Given the description of an element on the screen output the (x, y) to click on. 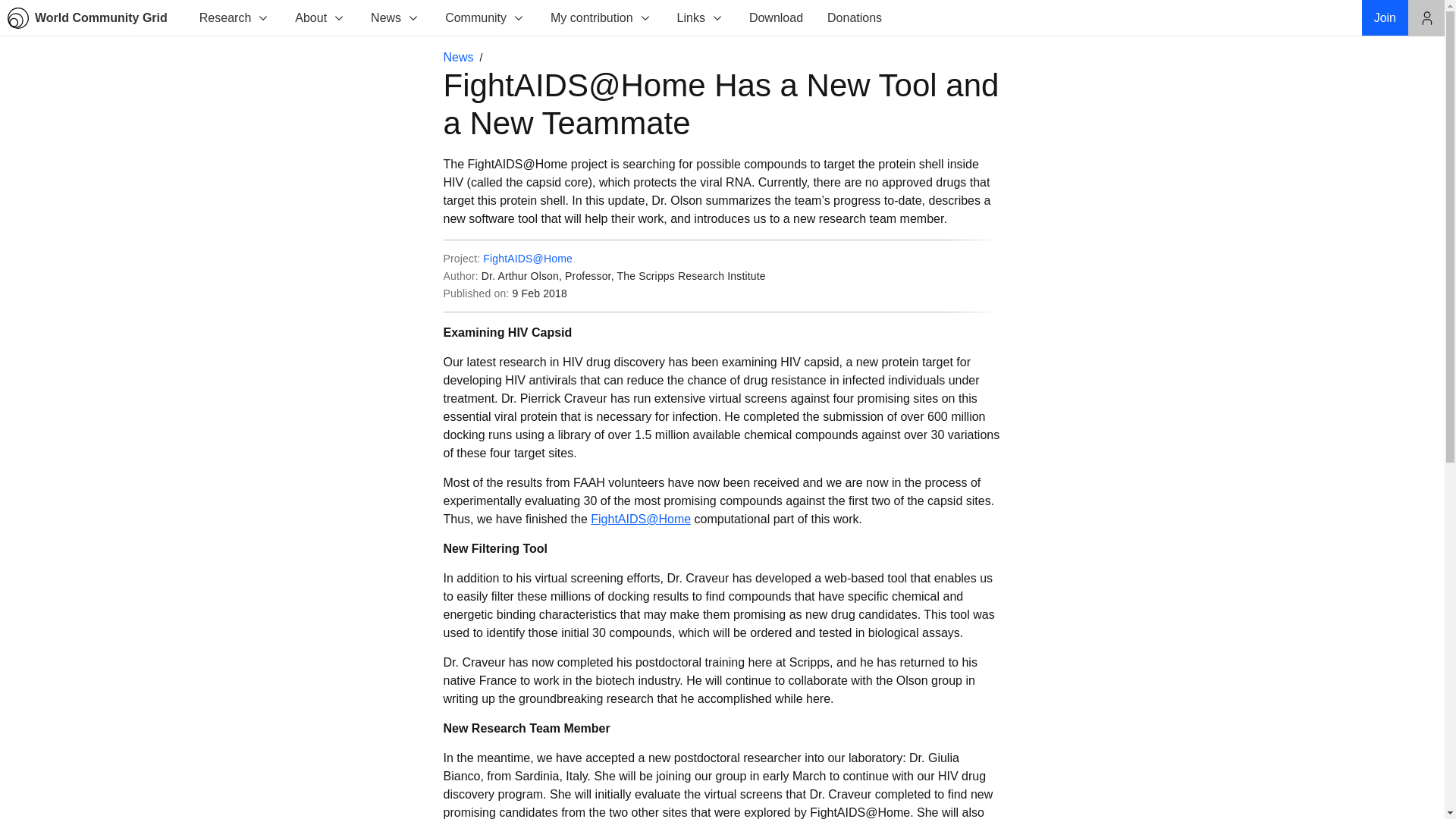
Links (700, 18)
Community (484, 18)
World Community Grid (93, 18)
Download (775, 18)
Research (234, 18)
About (319, 18)
News (394, 18)
My contribution (600, 18)
